Given the description of an element on the screen output the (x, y) to click on. 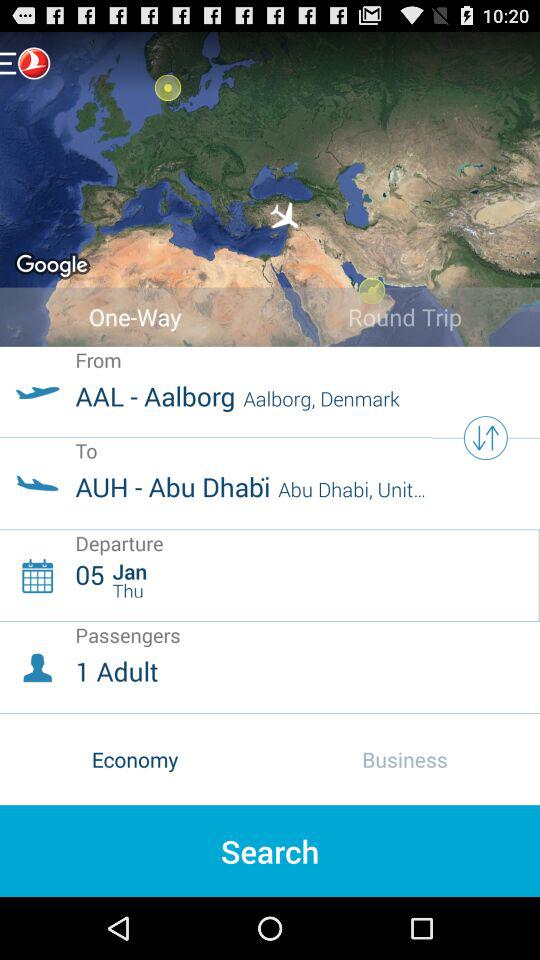
open sidebar (25, 62)
